Given the description of an element on the screen output the (x, y) to click on. 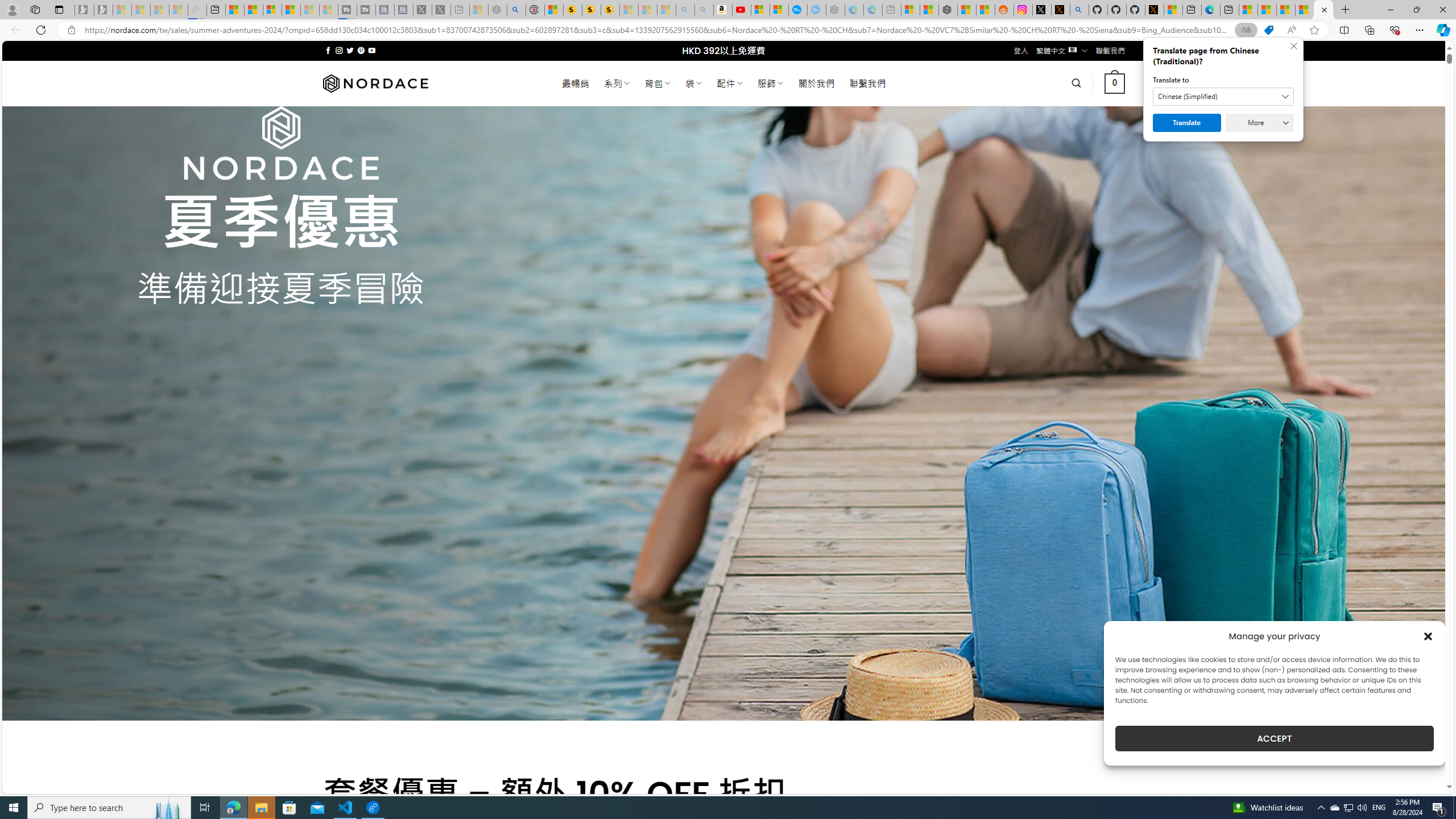
Show translate options (1245, 29)
Microsoft Start (1304, 9)
ACCEPT (1274, 738)
 0  (1115, 83)
amazon - Search - Sleeping (684, 9)
Newsletter Sign Up - Sleeping (102, 9)
Add this page to favorites (Ctrl+D) (1314, 29)
X Privacy Policy (1154, 9)
Nordace - Summer Adventures 2024 - Sleeping (497, 9)
